Given the description of an element on the screen output the (x, y) to click on. 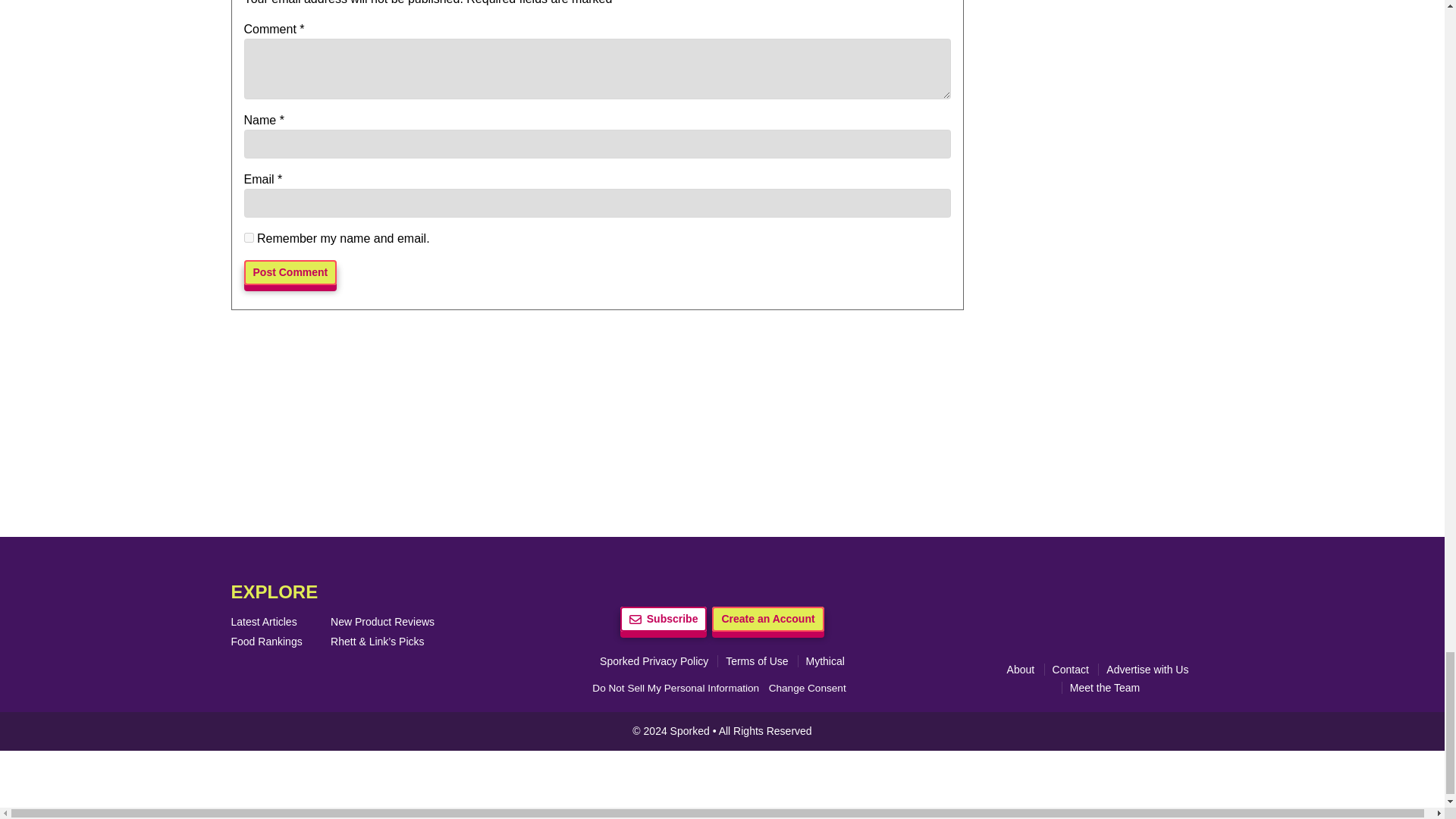
Sporked (691, 730)
Post Comment (290, 272)
yes (248, 237)
